Given the description of an element on the screen output the (x, y) to click on. 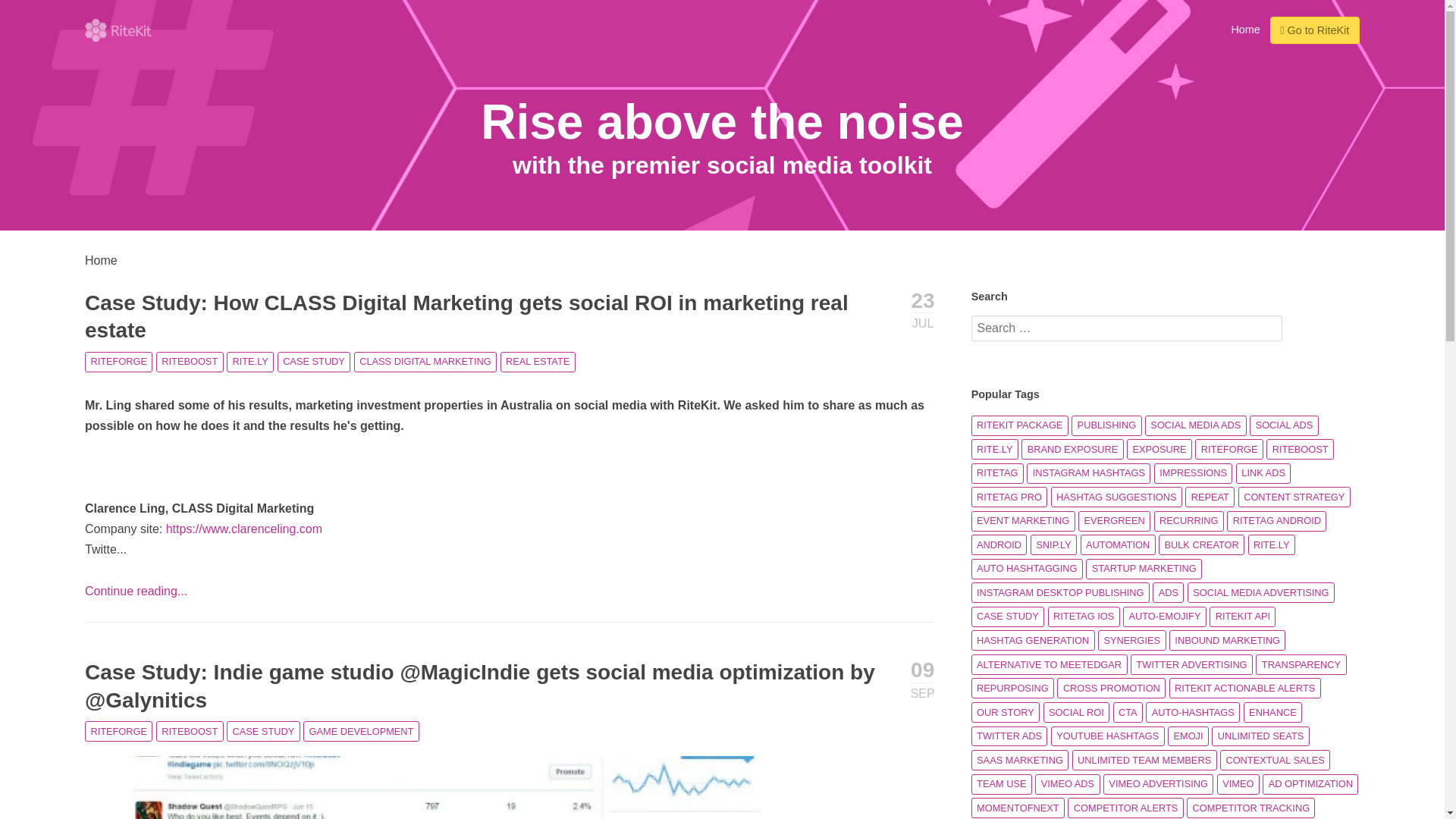
BRAND EXPOSURE (1072, 448)
Home (1245, 29)
GAME DEVELOPMENT (360, 731)
SOCIAL MEDIA ADS (1195, 425)
Go to RiteKit (1314, 30)
RITE.LY (994, 448)
INSTAGRAM HASHTAGS (1088, 473)
RITEBOOST (1299, 448)
PUBLISHING (1106, 425)
Continue reading... (135, 590)
EXPOSURE (1159, 448)
CLASS DIGITAL MARKETING (424, 362)
REAL ESTATE (537, 362)
RITEBOOST (189, 731)
CASE STUDY (263, 731)
